Given the description of an element on the screen output the (x, y) to click on. 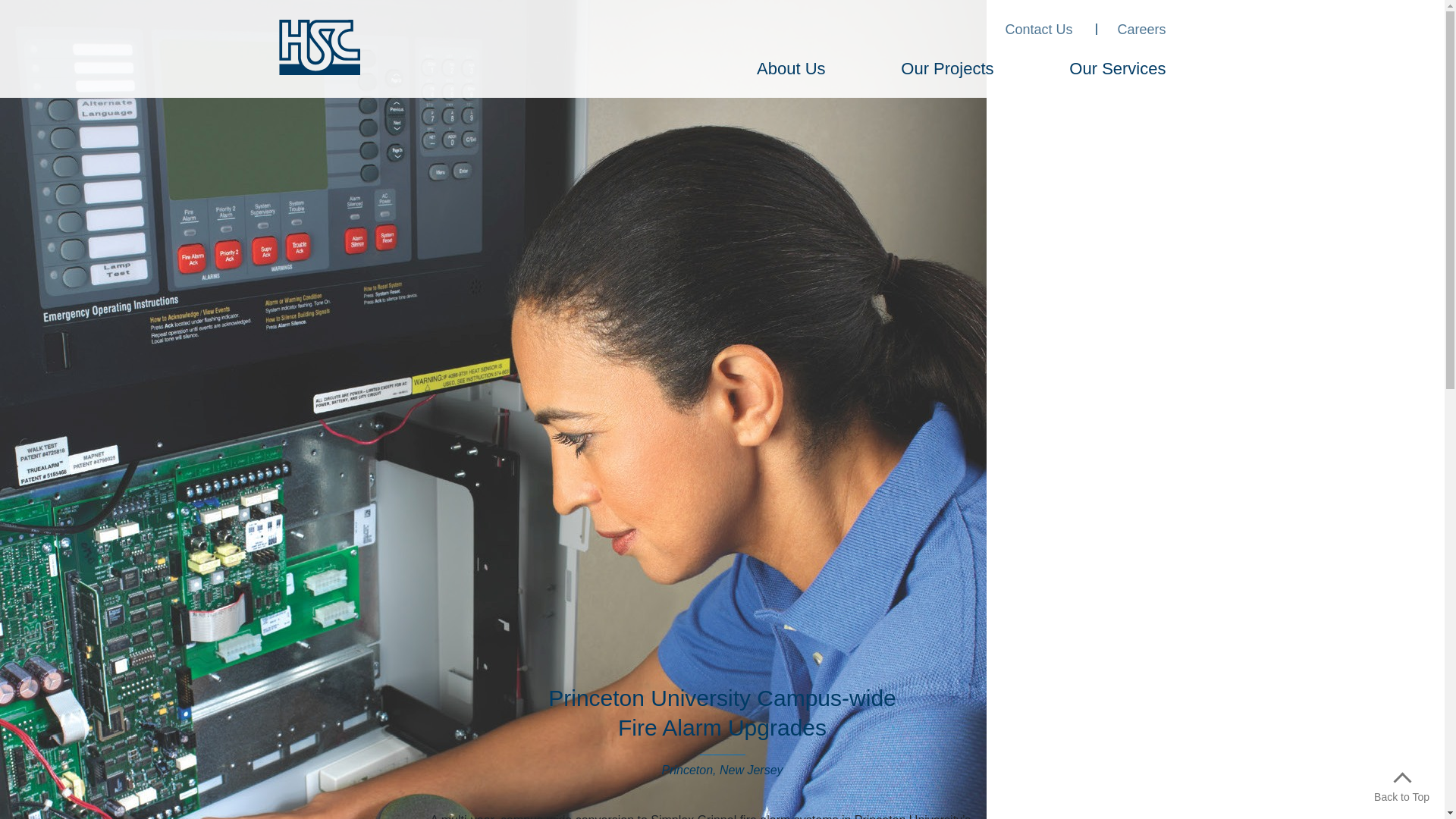
Careers (1141, 33)
Our Services (1117, 71)
Our Projects (946, 71)
Contact Us (1037, 33)
About Us (791, 71)
